Given the description of an element on the screen output the (x, y) to click on. 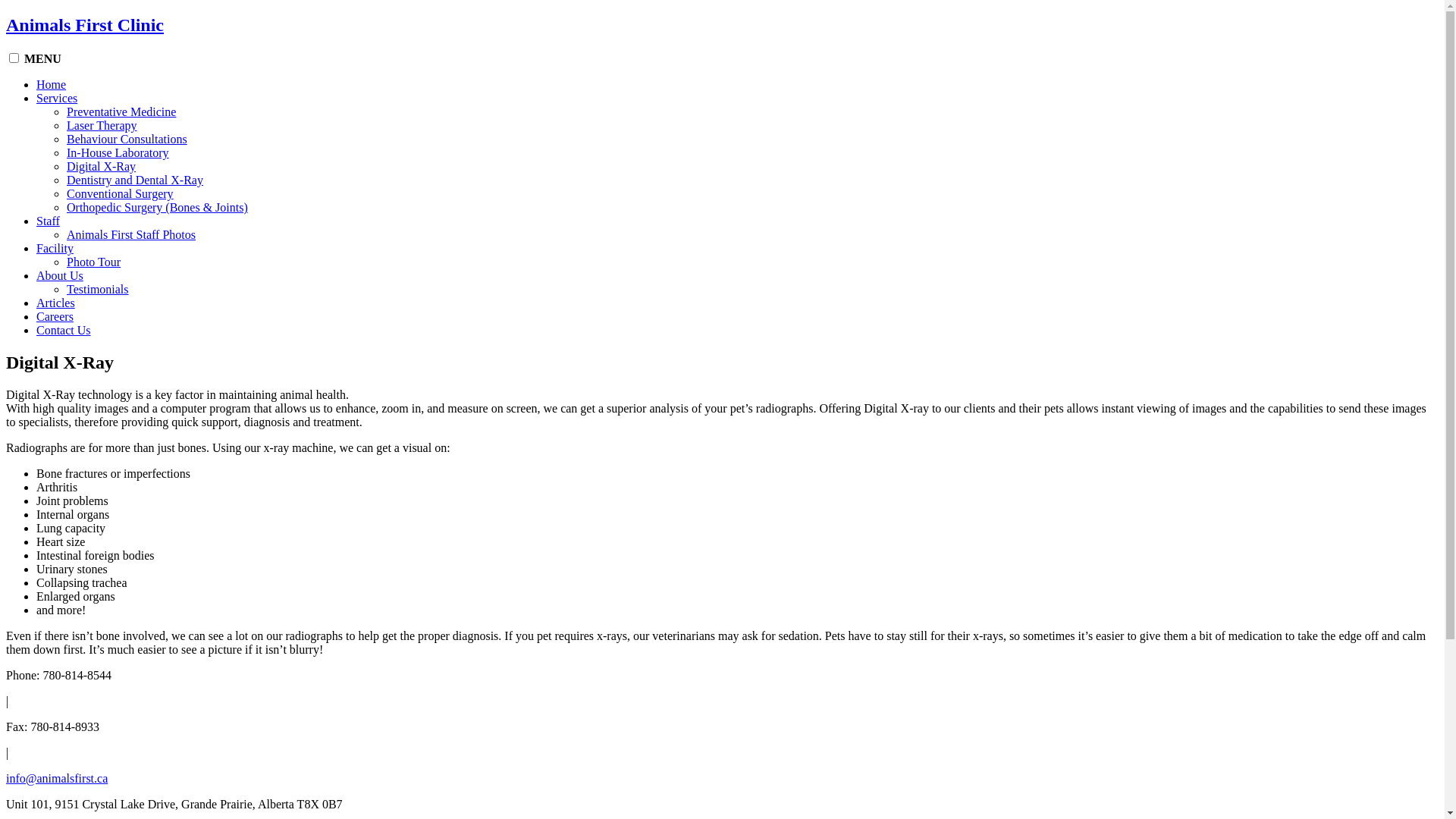
Orthopedic Surgery (Bones & Joints) Element type: text (156, 206)
Conventional Surgery Element type: text (119, 193)
Careers Element type: text (54, 316)
Contact Us Element type: text (63, 329)
Facility Element type: text (54, 247)
About Us Element type: text (59, 275)
Animals First Staff Photos Element type: text (130, 234)
Laser Therapy Element type: text (101, 125)
info@animalsfirst.ca Element type: text (56, 777)
Digital X-Ray Element type: text (100, 166)
In-House Laboratory Element type: text (117, 152)
Staff Element type: text (47, 220)
Home Element type: text (50, 84)
MENU Element type: text (42, 58)
Preventative Medicine Element type: text (120, 111)
Animals First Clinic Element type: text (84, 24)
Dentistry and Dental X-Ray Element type: text (134, 179)
Behaviour Consultations Element type: text (126, 138)
Testimonials Element type: text (97, 288)
Photo Tour Element type: text (93, 261)
Services Element type: text (56, 97)
Articles Element type: text (55, 302)
